Given the description of an element on the screen output the (x, y) to click on. 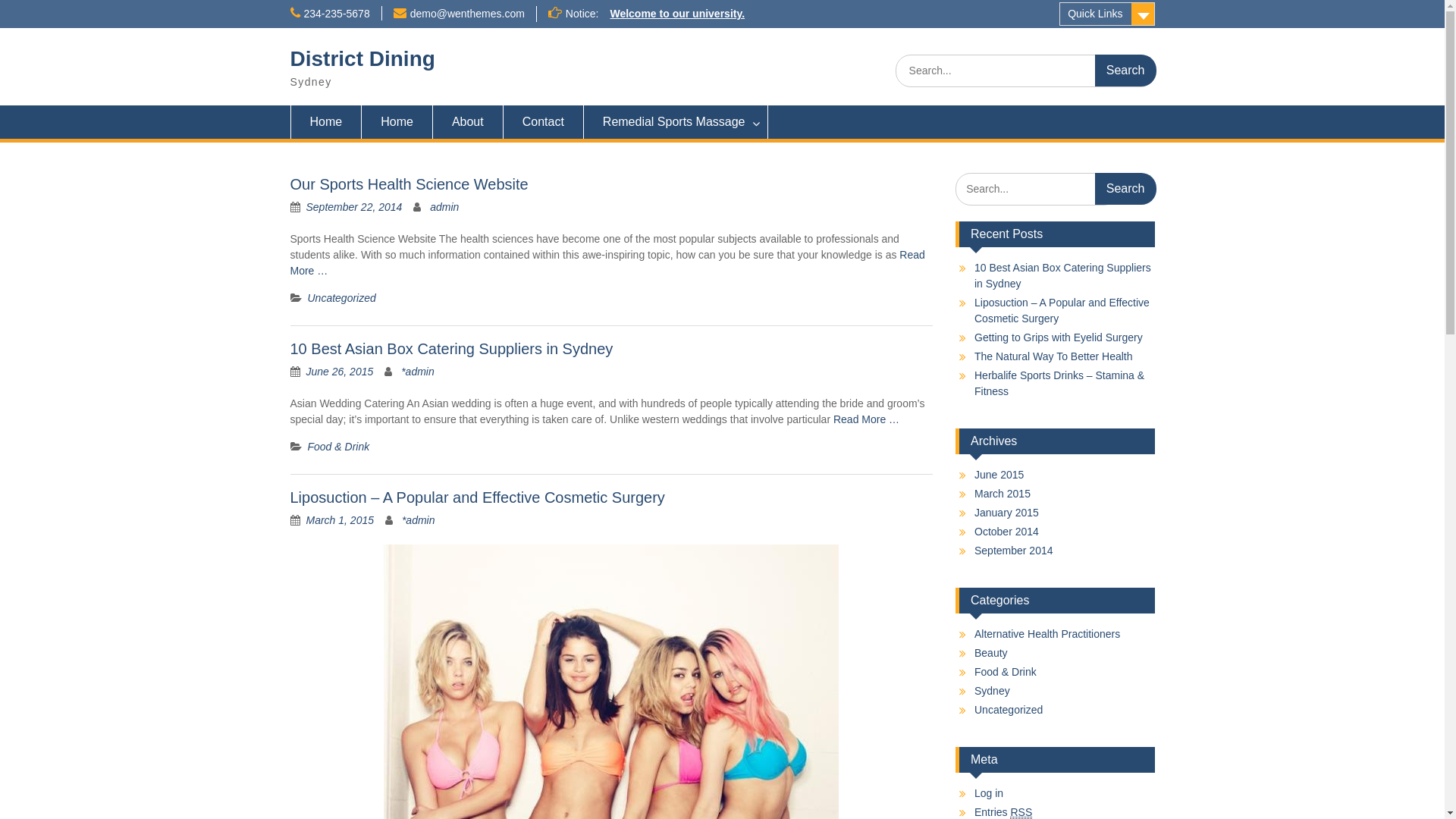
Uncategorized Element type: text (1008, 709)
10 Best Asian Box Catering Suppliers in Sydney Element type: text (450, 348)
District Dining Element type: text (361, 58)
About Element type: text (468, 121)
Remedial Sports Massage Element type: text (675, 121)
June 2015 Element type: text (998, 474)
Search for: Element type: hover (1024, 70)
January 2015 Element type: text (1006, 512)
March 2015 Element type: text (1002, 493)
Log in Element type: text (988, 793)
Search for: Element type: hover (1036, 188)
Beauty Element type: text (990, 652)
October 2014 Element type: text (1006, 531)
admin Element type: text (443, 206)
Contact Element type: text (543, 121)
Search Element type: text (1125, 188)
Food & Drink Element type: text (338, 446)
Quick Links Element type: text (1106, 13)
Uncategorized Element type: text (341, 297)
*admin Element type: text (417, 371)
*admin Element type: text (418, 520)
June 26, 2015 Element type: text (339, 371)
demo@wenthemes.com Element type: text (467, 13)
Our Sports Health Science Website Element type: text (408, 183)
Getting to Grips with Eyelid Surgery Element type: text (1058, 337)
September 2014 Element type: text (1013, 550)
Sydney Element type: text (992, 690)
September 22, 2014 Element type: text (354, 206)
Search Element type: text (1125, 70)
March 1, 2015 Element type: text (340, 520)
Home Element type: text (397, 121)
The Natural Way To Better Health Element type: text (1053, 356)
Home Element type: text (325, 121)
Skip to content Element type: text (0, 0)
Welcome to our university. Element type: text (676, 13)
Alternative Health Practitioners Element type: text (1047, 633)
10 Best Asian Box Catering Suppliers in Sydney Element type: text (1062, 275)
Food & Drink Element type: text (1005, 671)
234-235-5678 Element type: text (336, 13)
